Given the description of an element on the screen output the (x, y) to click on. 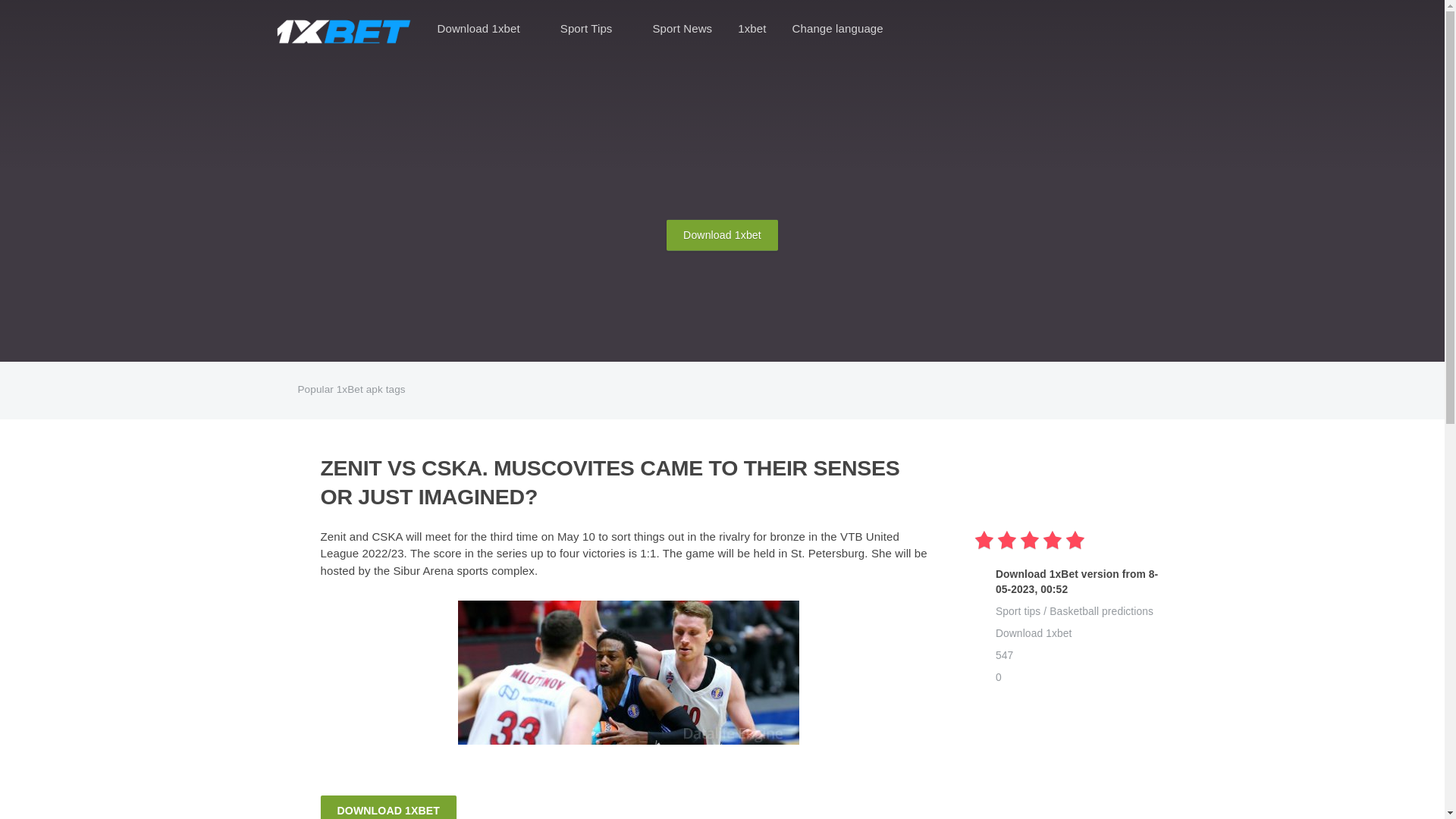
Sport Tips (593, 28)
Download 1xbet (486, 28)
1xbet applications (343, 28)
Change language (844, 28)
1xbet (751, 28)
Popular 1xBet apk tags (384, 389)
Sport News (682, 28)
Download 1xbet (721, 235)
